Given the description of an element on the screen output the (x, y) to click on. 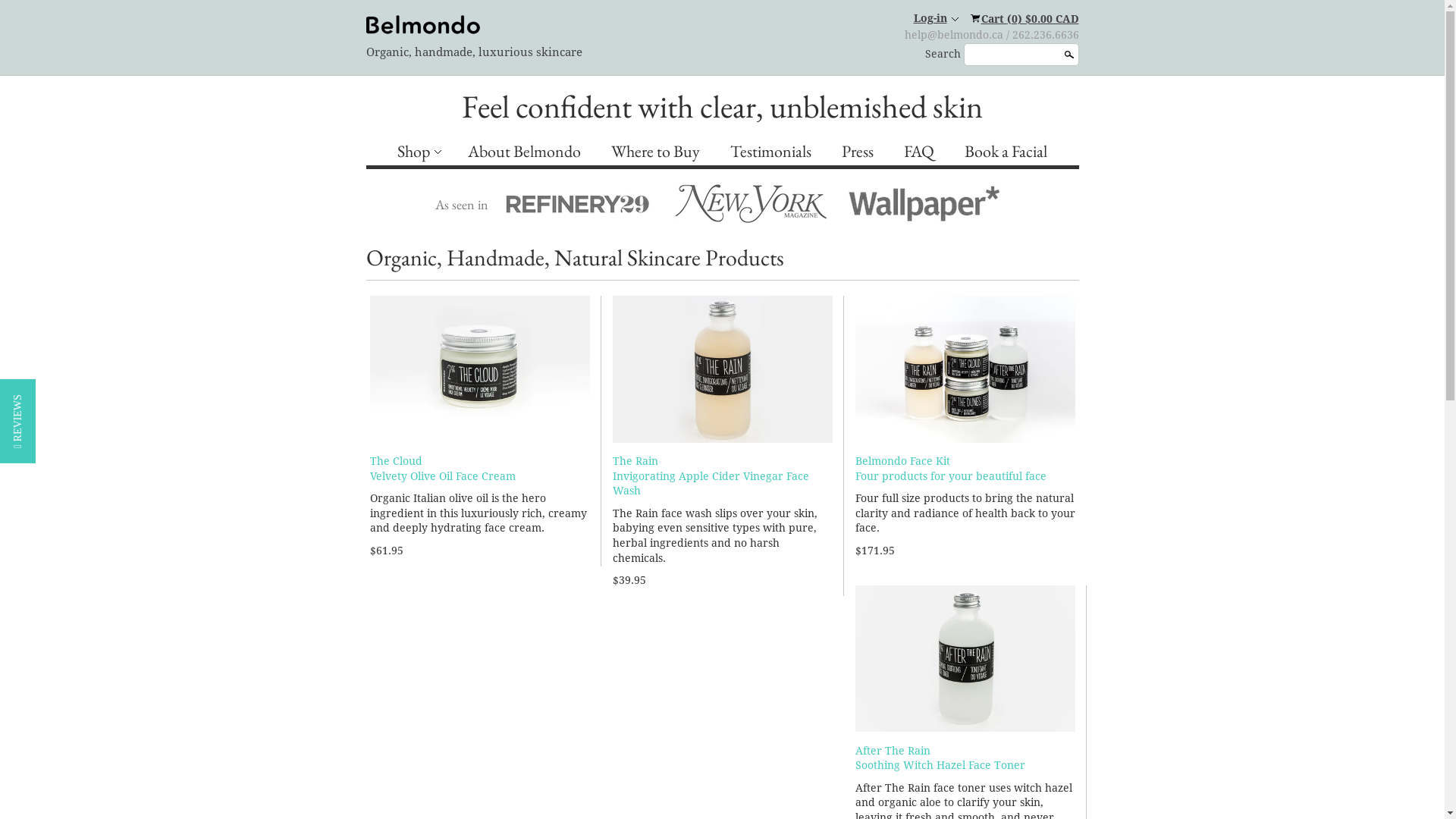
Cart (0) $0.00 CAD Element type: text (1024, 18)
About Belmondo Element type: text (524, 151)
FAQ Element type: text (919, 151)
Press Element type: text (857, 151)
The Cloud Element type: text (396, 461)
Four products for your beautiful face Element type: text (950, 476)
Belmondo Face Kit Element type: text (902, 461)
Where to Buy Element type: text (655, 151)
After The Rain Element type: text (892, 750)
Velvety Olive Oil Face Cream Element type: text (442, 476)
Belmondo Skincare Element type: hover (422, 24)
Invigorating Apple Cider Vinegar Face Wash Element type: text (710, 484)
Shop Element type: text (417, 151)
Soothing Witch Hazel Face Toner Element type: text (940, 765)
Book a Facial Element type: text (1005, 151)
Testimonials Element type: text (770, 151)
The Rain Element type: text (635, 461)
Log-in Element type: text (935, 18)
